Given the description of an element on the screen output the (x, y) to click on. 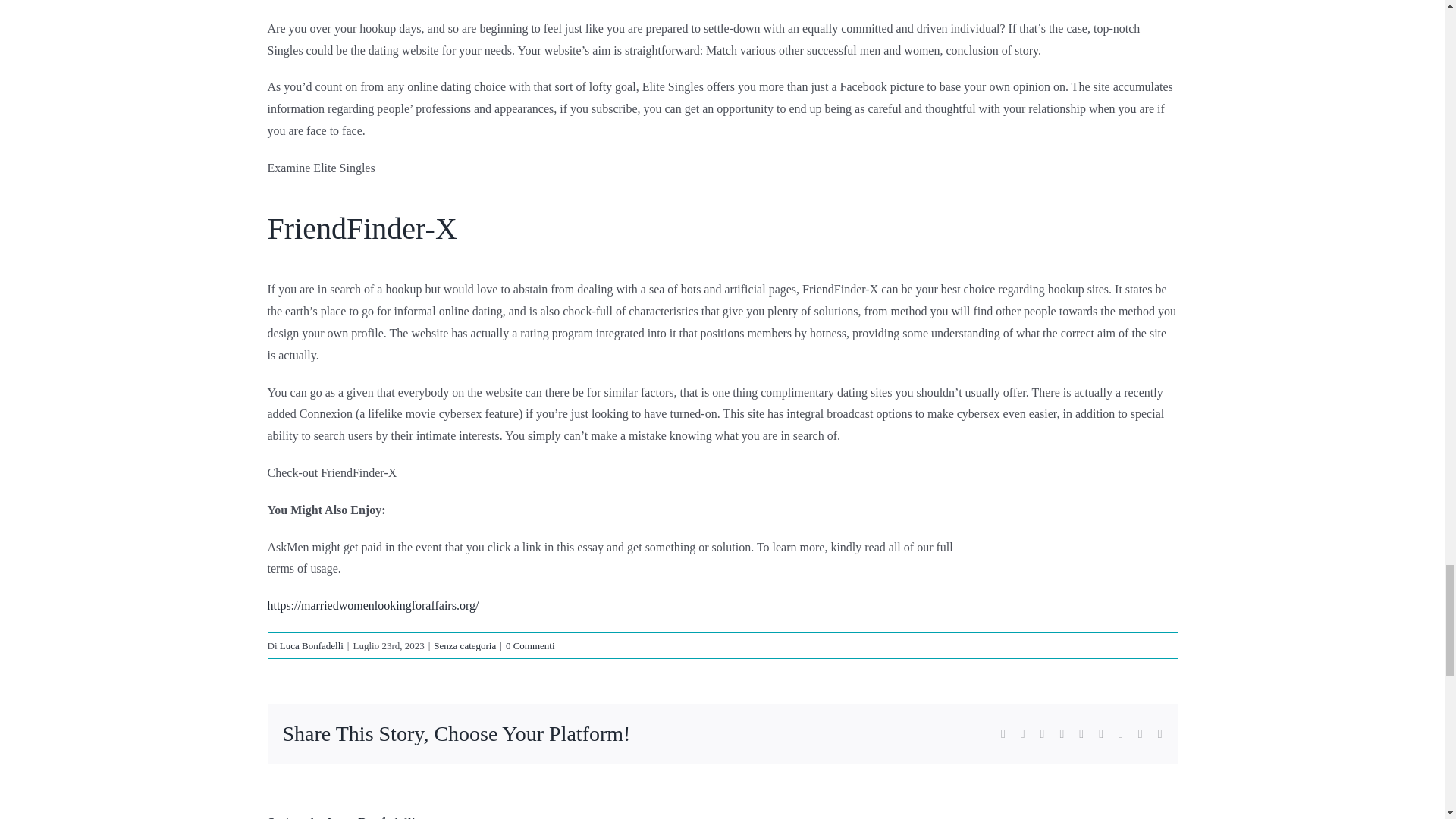
Senza categoria (464, 645)
Articoli scritti da Luca Bonfadelli (311, 645)
Luca Bonfadelli (311, 645)
Luca Bonfadelli (370, 817)
Articoli scritti da Luca Bonfadelli (370, 817)
0 Commenti (529, 645)
